Given the description of an element on the screen output the (x, y) to click on. 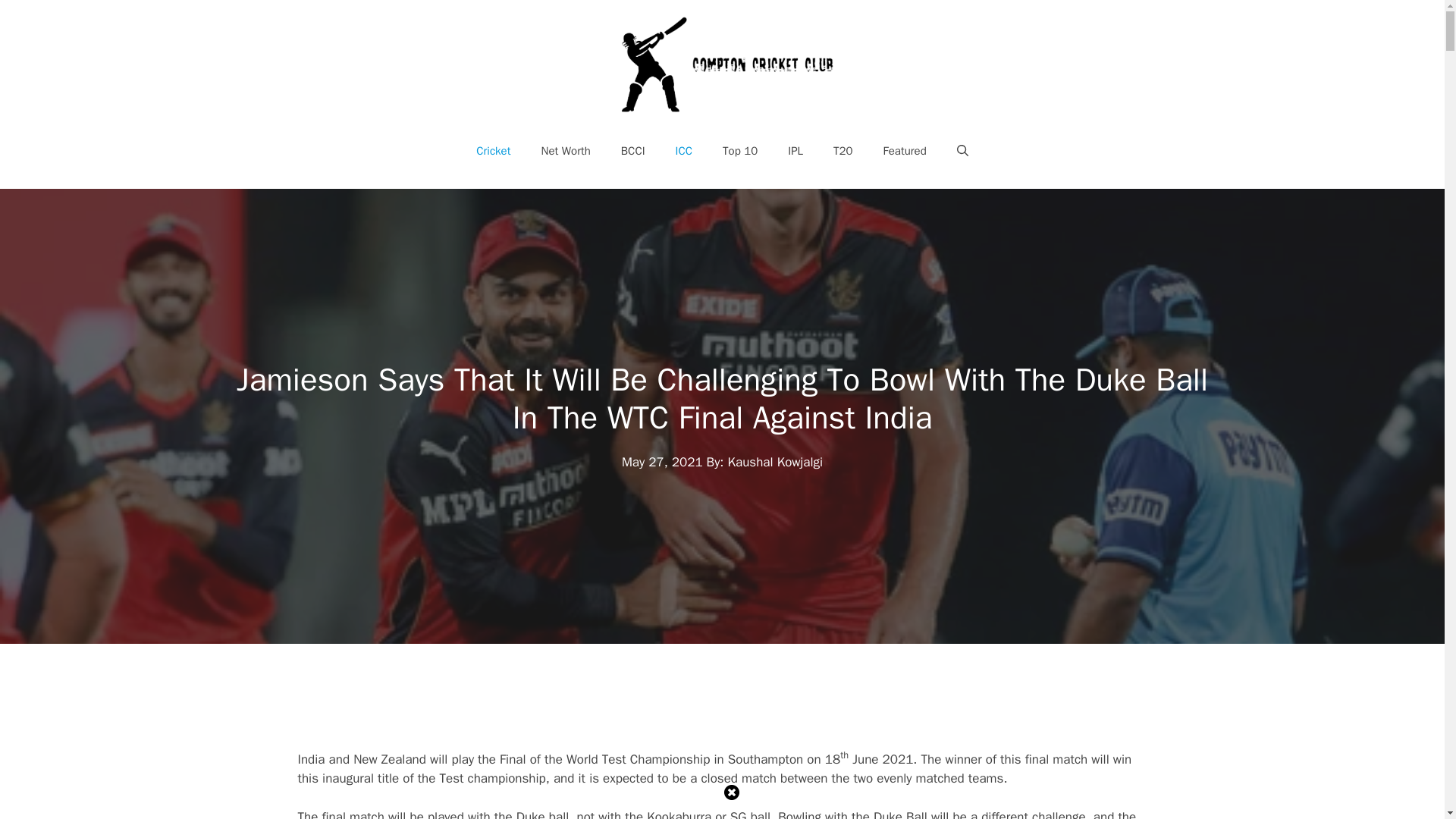
Featured (904, 150)
IPL (795, 150)
ICC (684, 150)
Top 10 (740, 150)
Net Worth (565, 150)
Cricket (493, 150)
T20 (842, 150)
BCCI (633, 150)
